Given the description of an element on the screen output the (x, y) to click on. 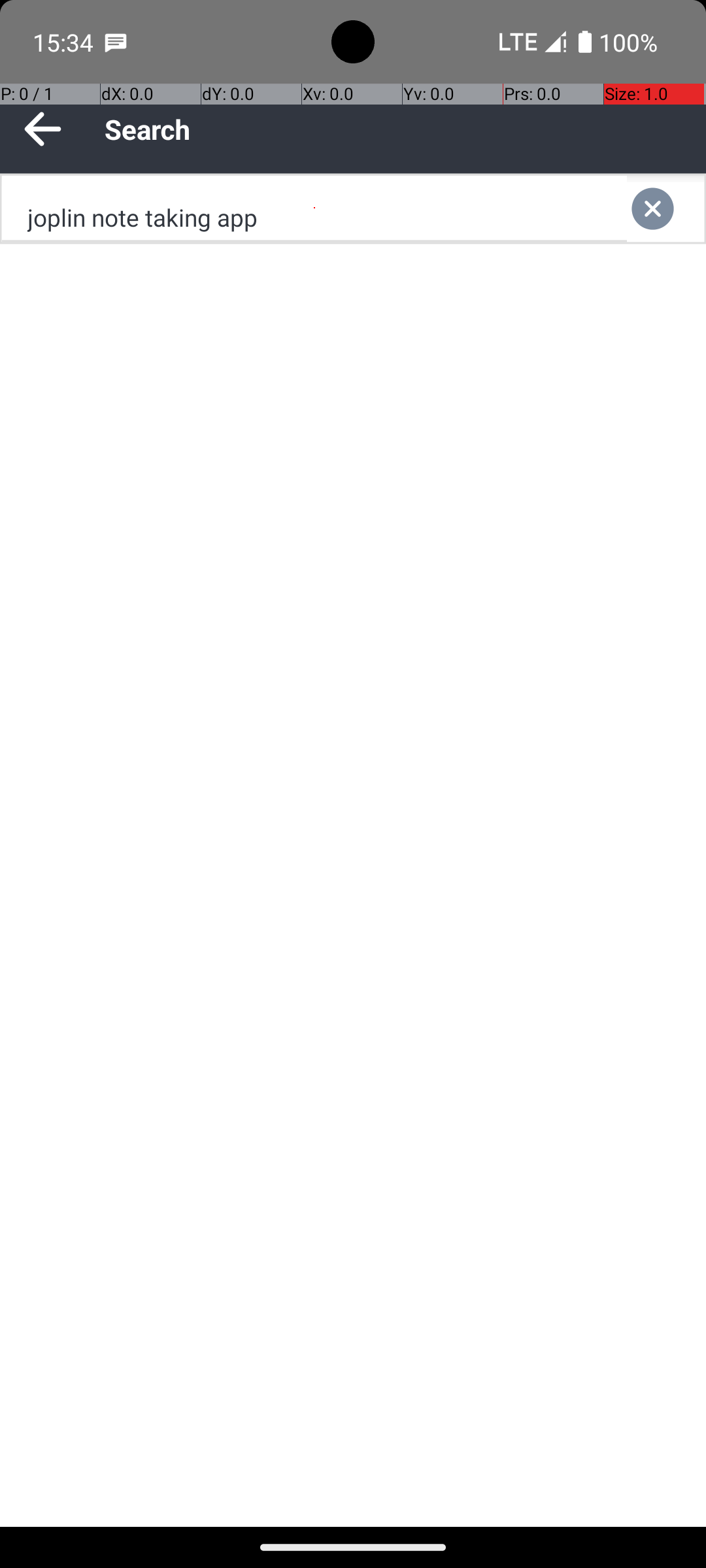
joplin note taking app Element type: android.widget.EditText (313, 208)
 Element type: android.widget.TextView (665, 208)
